Given the description of an element on the screen output the (x, y) to click on. 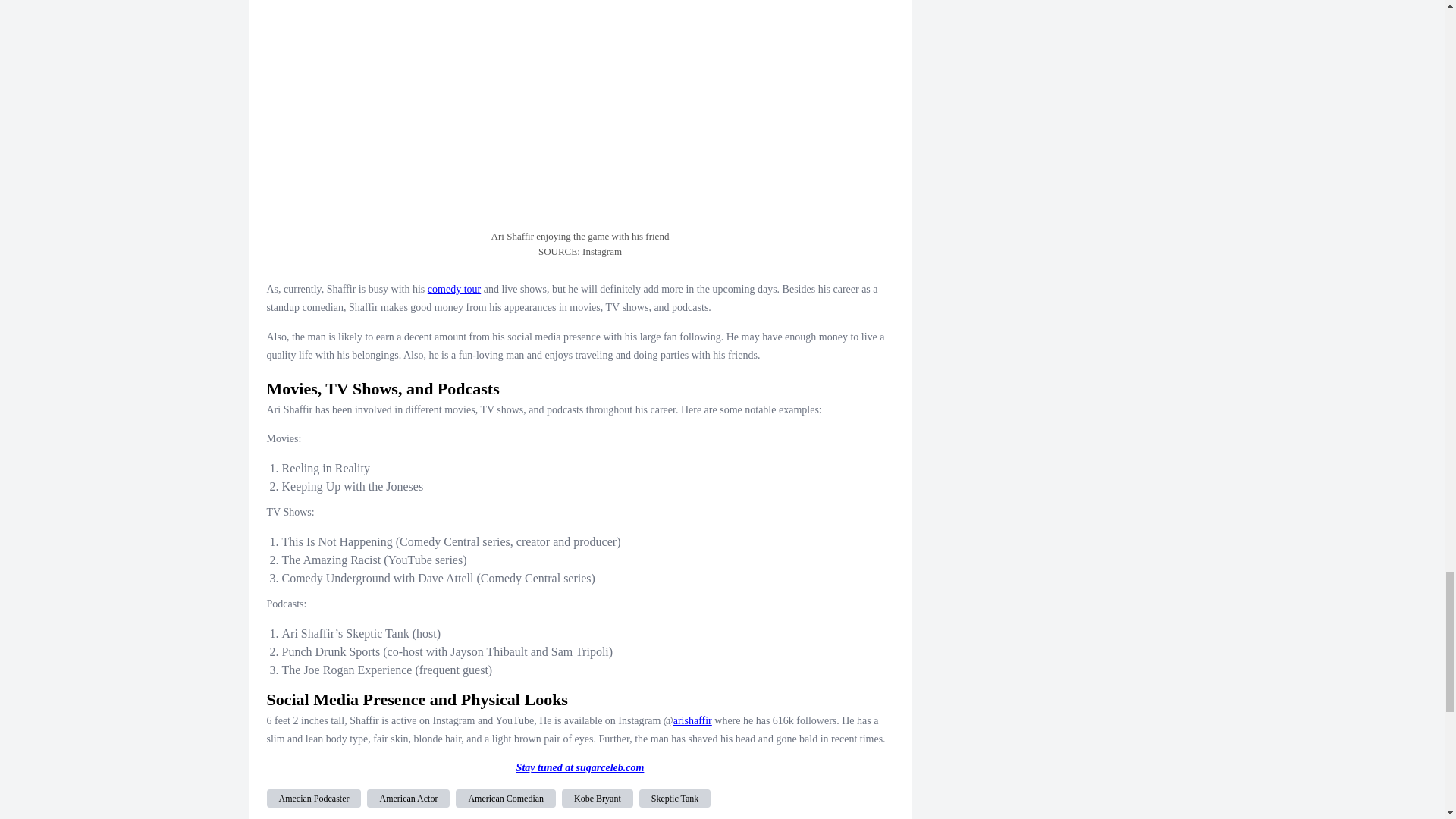
comedy tour (454, 288)
Skeptic Tank (675, 798)
American Comedian (505, 798)
arishaffir (691, 720)
Stay tuned at sugarceleb.com (580, 767)
Amecian Podcaster (313, 798)
Kobe Bryant (597, 798)
American Actor (407, 798)
